Given the description of an element on the screen output the (x, y) to click on. 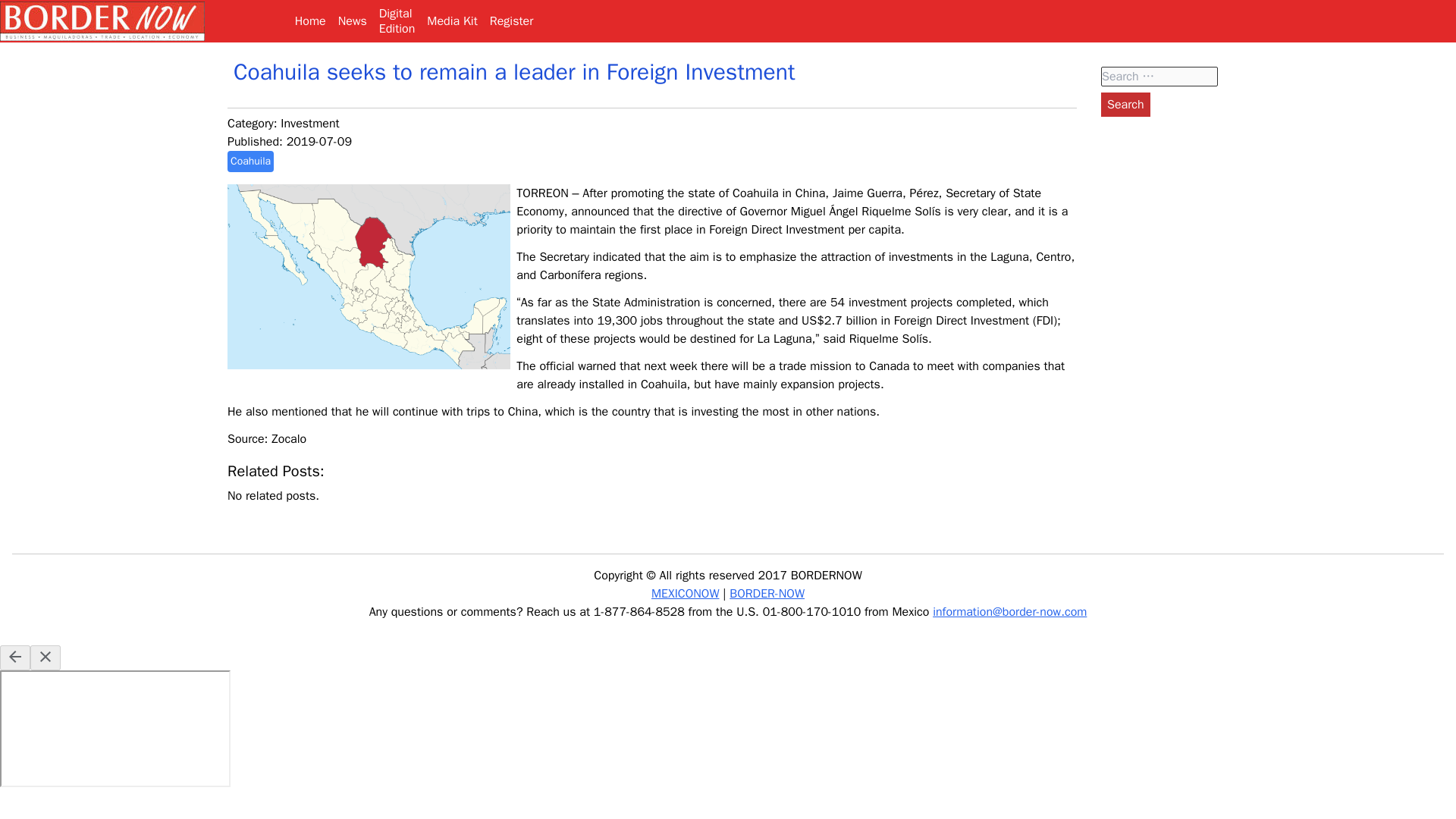
MEXICONOW (684, 593)
Coahuila (250, 160)
Search (1125, 104)
Home (309, 21)
BORDER-NOW (767, 593)
Search (397, 21)
Register (1125, 104)
Investment (511, 21)
Media Kit (310, 123)
Coahuila Tag (451, 21)
Search (250, 160)
